Given the description of an element on the screen output the (x, y) to click on. 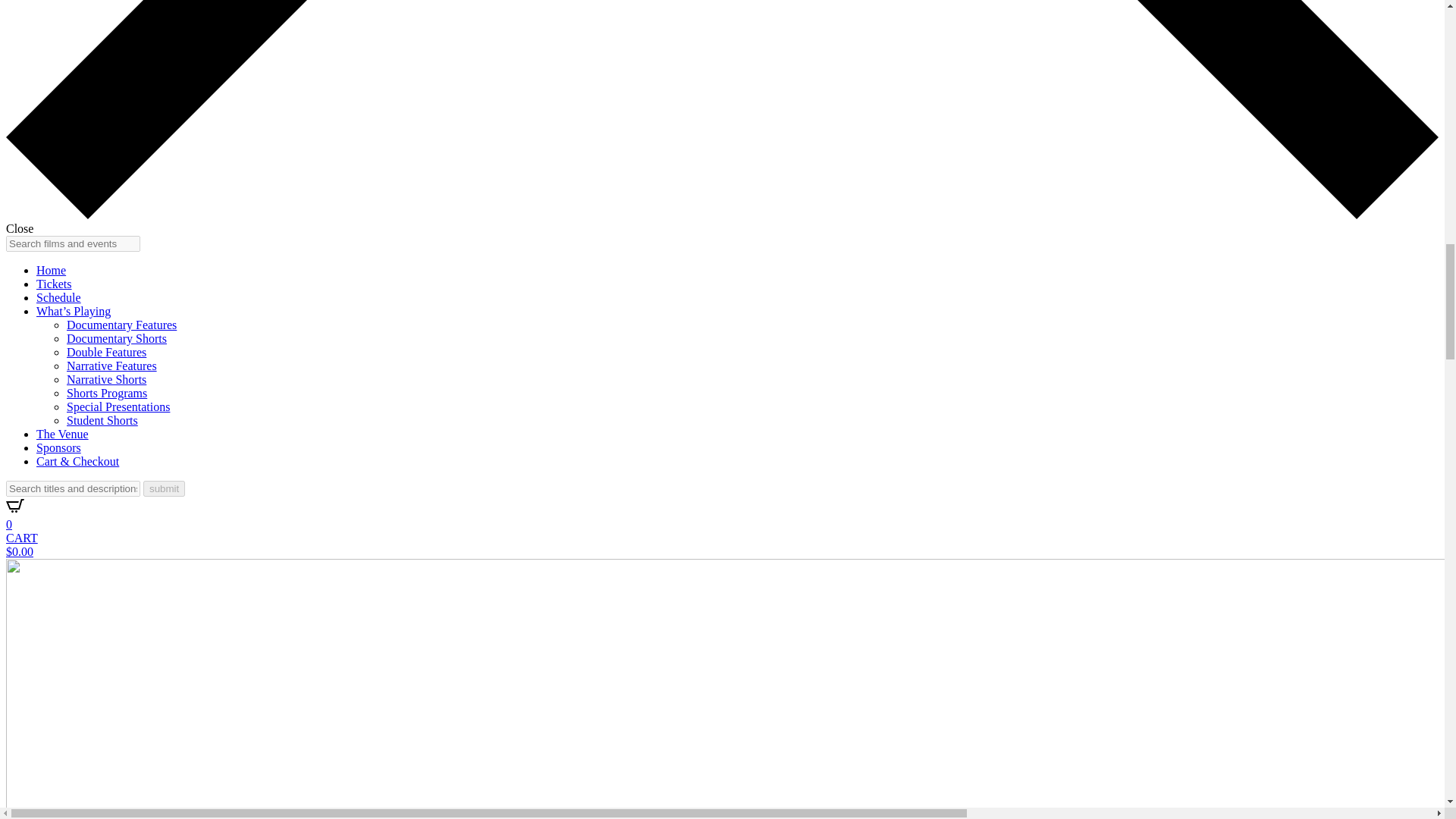
submit (163, 488)
Documentary Features (121, 324)
Home (50, 269)
Narrative Shorts (106, 379)
Documentary Shorts (116, 338)
Shorts Programs (106, 392)
Schedule (58, 297)
Double Features (106, 351)
Narrative Features (111, 365)
Student Shorts (102, 420)
submit (163, 488)
Sponsors (58, 447)
Tickets (53, 283)
Special Presentations (118, 406)
The Venue (62, 433)
